Given the description of an element on the screen output the (x, y) to click on. 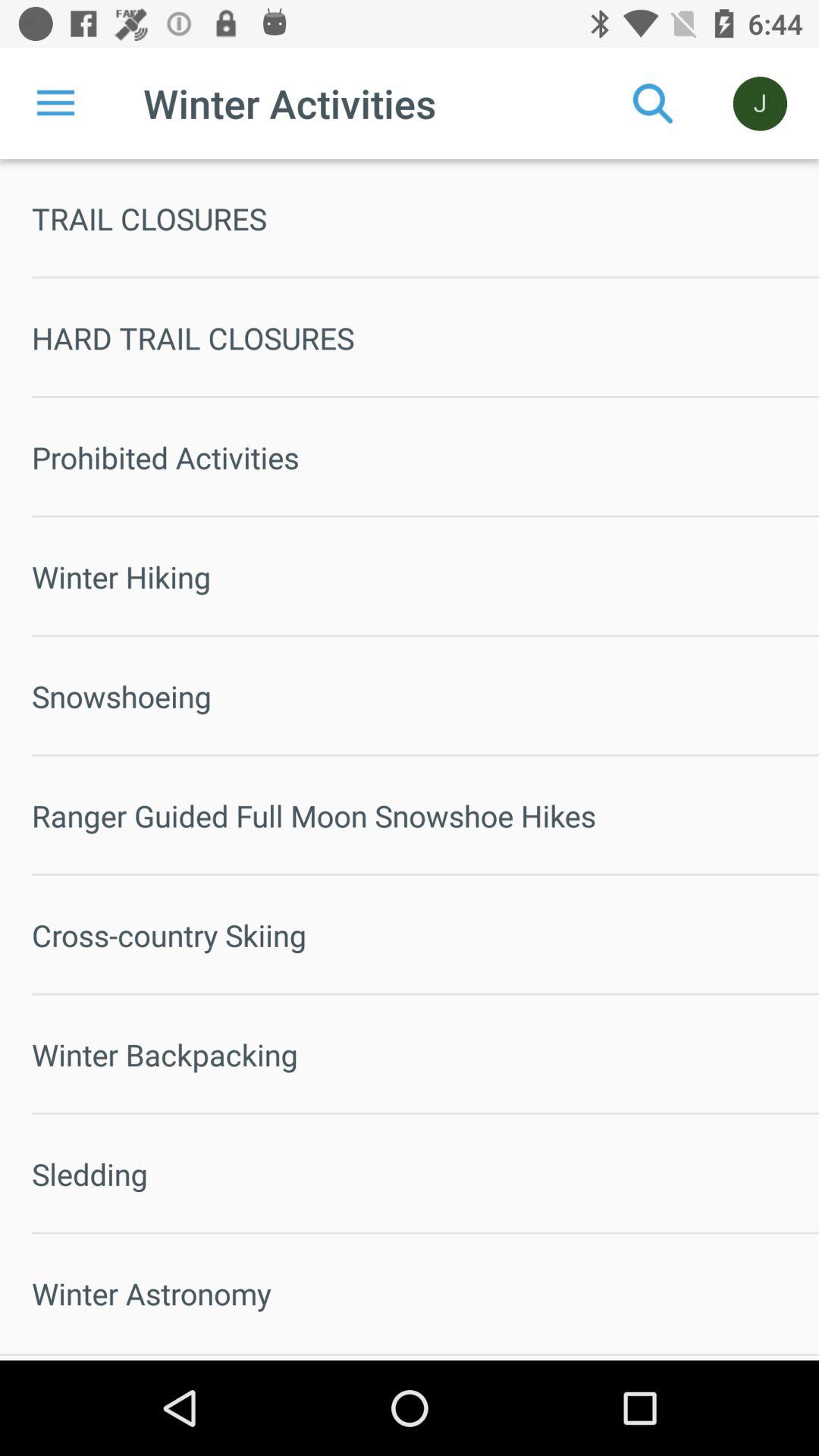
scroll to winter backpacking (425, 1054)
